Given the description of an element on the screen output the (x, y) to click on. 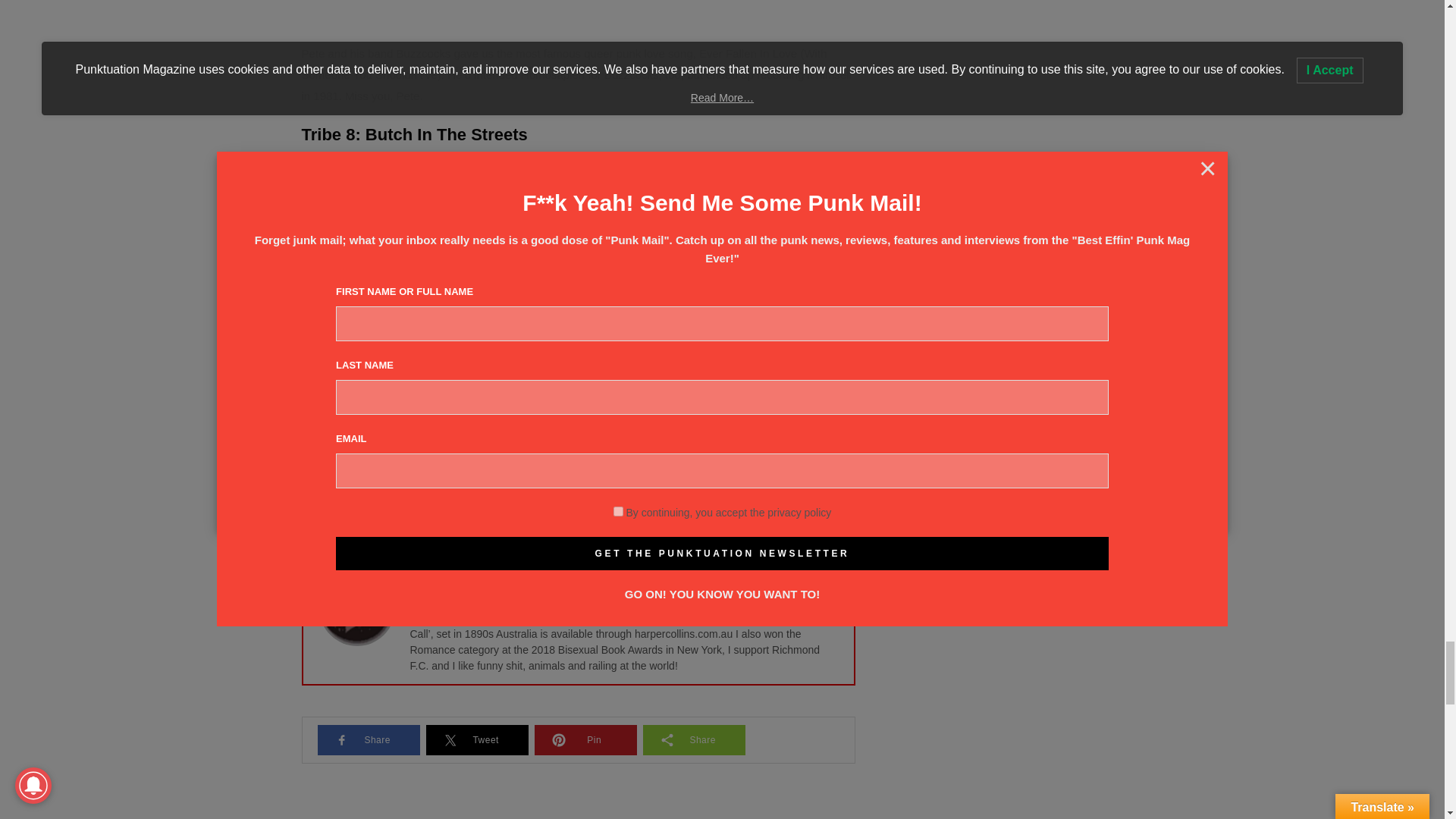
Welton B Marsland (466, 579)
